Given the description of an element on the screen output the (x, y) to click on. 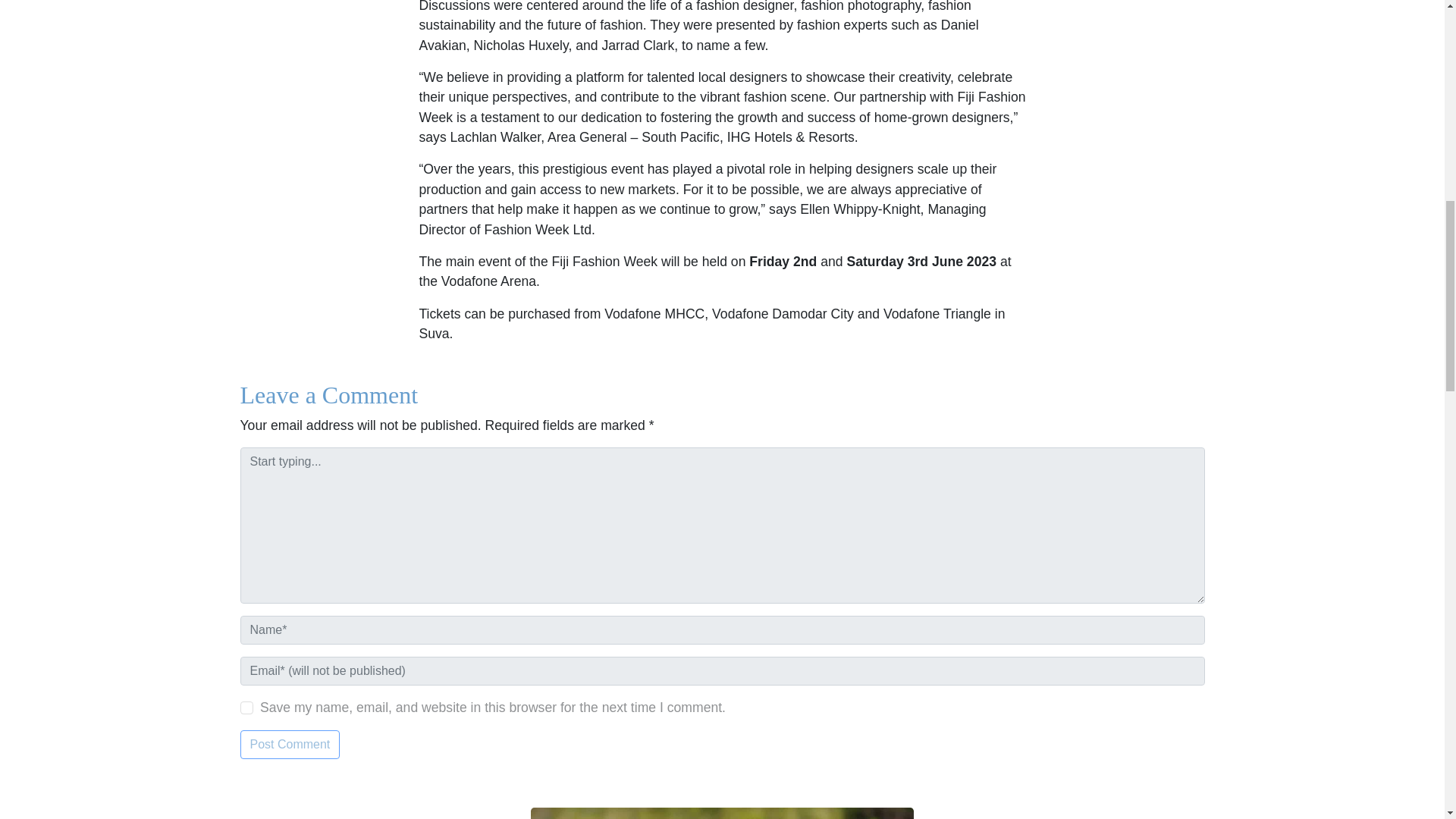
Post Comment (289, 744)
yes (246, 707)
